Given the description of an element on the screen output the (x, y) to click on. 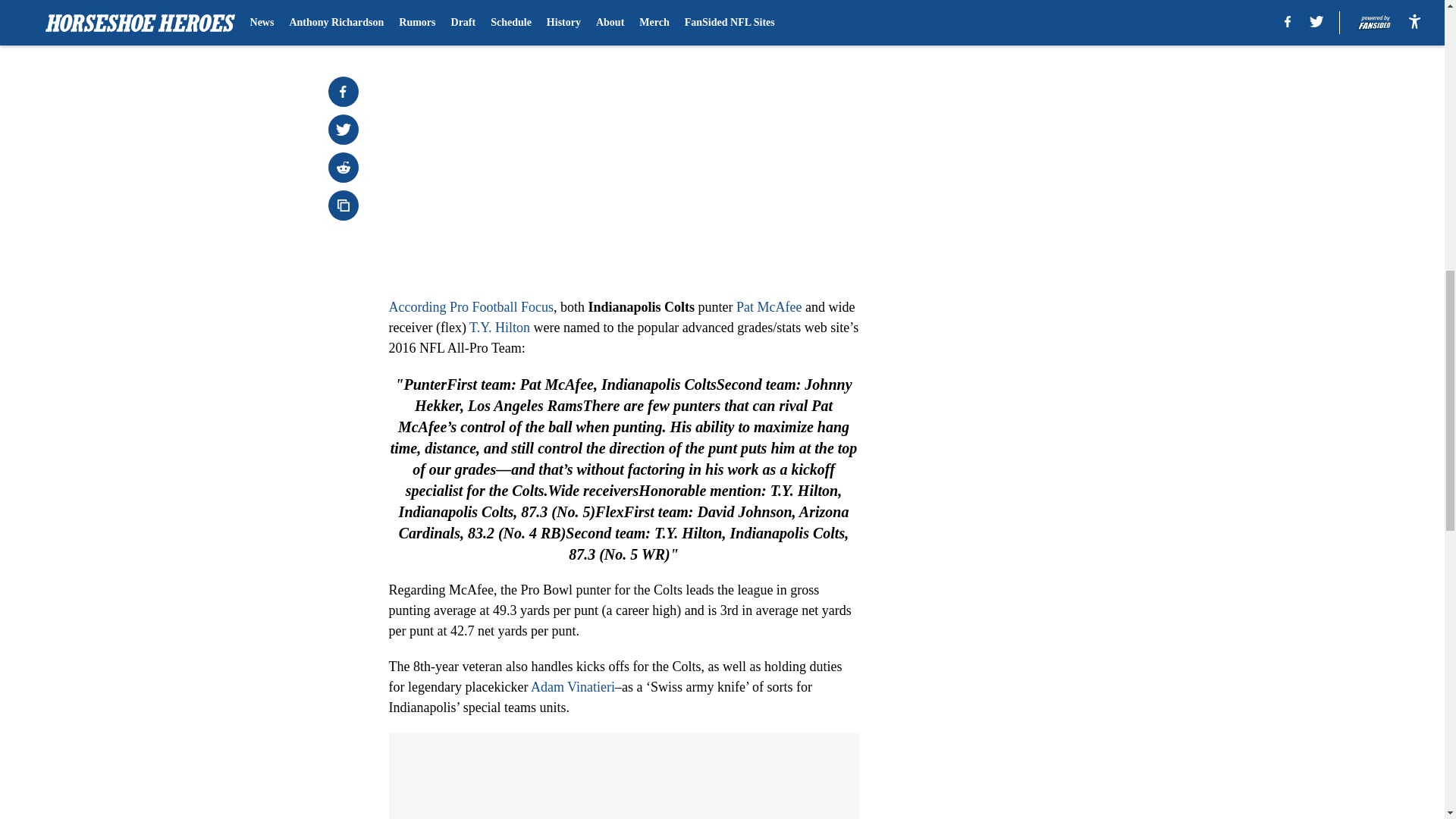
According Pro Football Focus (470, 306)
T.Y. Hilton (498, 327)
Adam Vinatieri (572, 686)
Pat McAfee (769, 306)
